Given the description of an element on the screen output the (x, y) to click on. 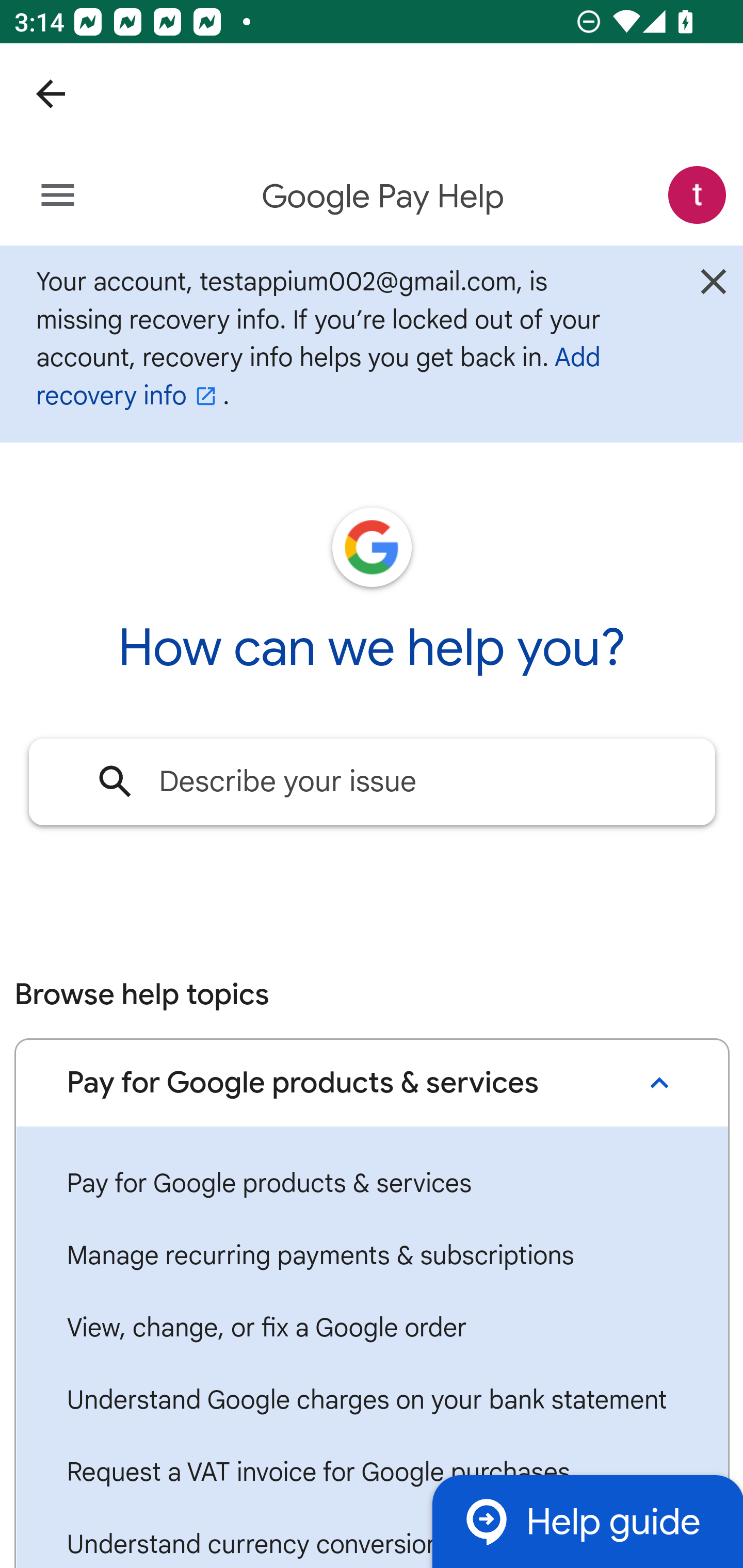
Navigate up (50, 93)
Main menu (58, 195)
Google Pay Help (383, 197)
Close (713, 286)
Add recovery info (318, 376)
Search (116, 781)
Pay for Google products & services (371, 1183)
Manage recurring payments & subscriptions (371, 1255)
View, change, or fix a Google order (371, 1328)
Understand Google charges on your bank statement (371, 1400)
Request a VAT invoice for Google purchases (371, 1472)
Help guide (587, 1520)
Understand currency conversions (371, 1538)
